Given the description of an element on the screen output the (x, y) to click on. 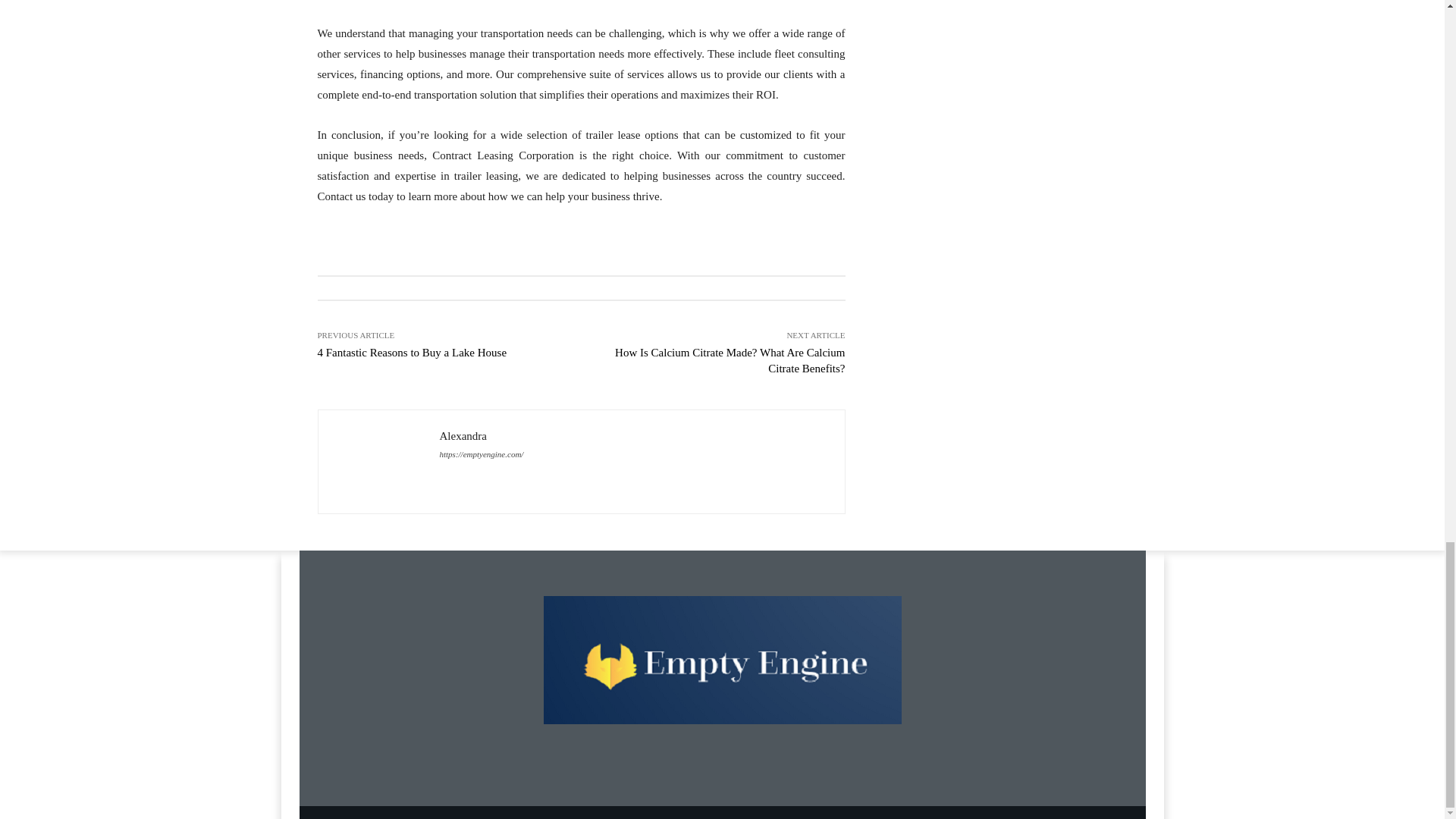
Alexandra (481, 436)
Alexandra (379, 461)
4 Fantastic Reasons to Buy a Lake House (411, 352)
